Given the description of an element on the screen output the (x, y) to click on. 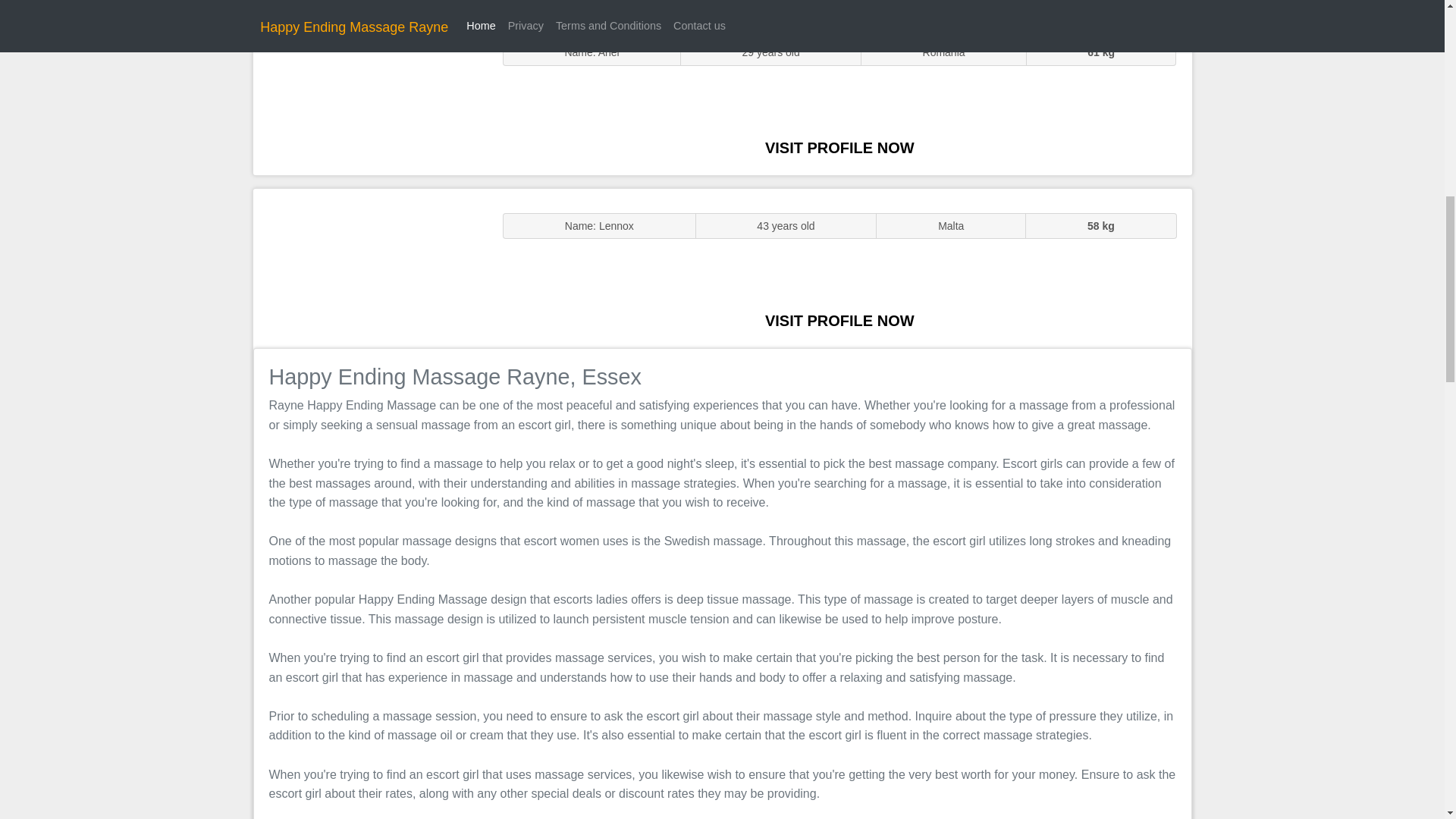
Massage (370, 267)
Sluts (370, 94)
VISIT PROFILE NOW (839, 320)
VISIT PROFILE NOW (839, 147)
